Given the description of an element on the screen output the (x, y) to click on. 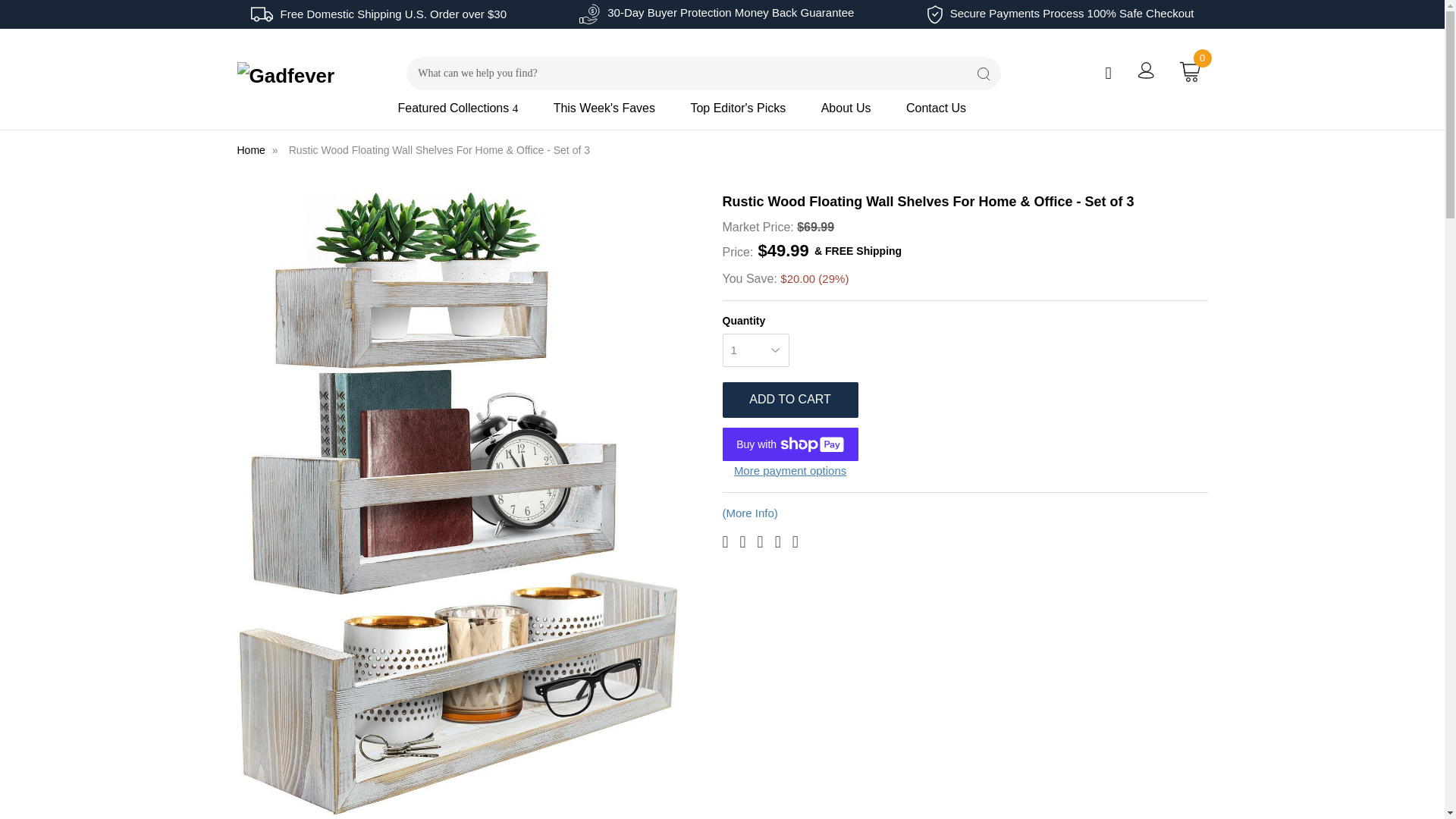
Featured Collections (473, 113)
